Given the description of an element on the screen output the (x, y) to click on. 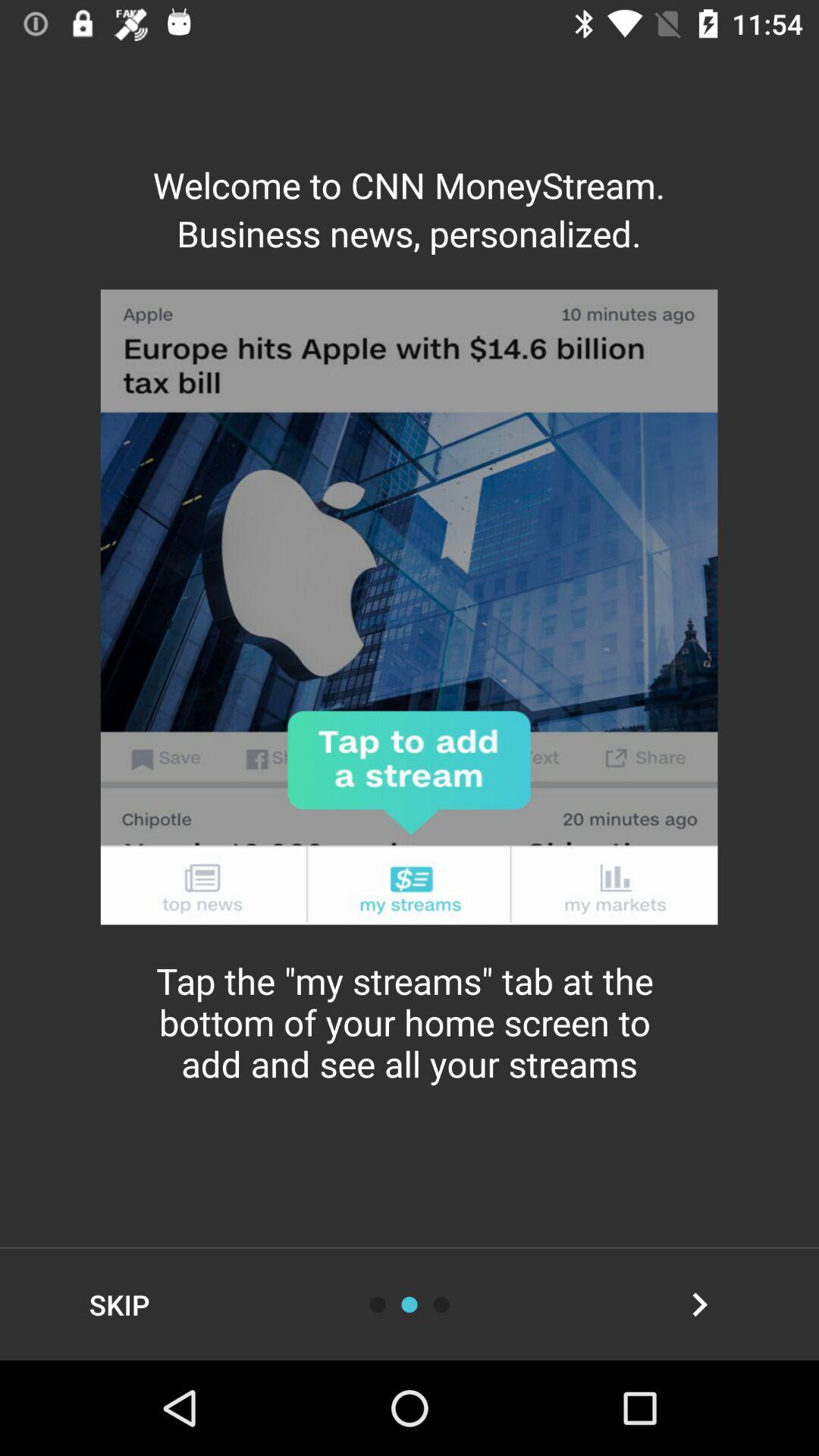
turn on skip icon (119, 1304)
